Given the description of an element on the screen output the (x, y) to click on. 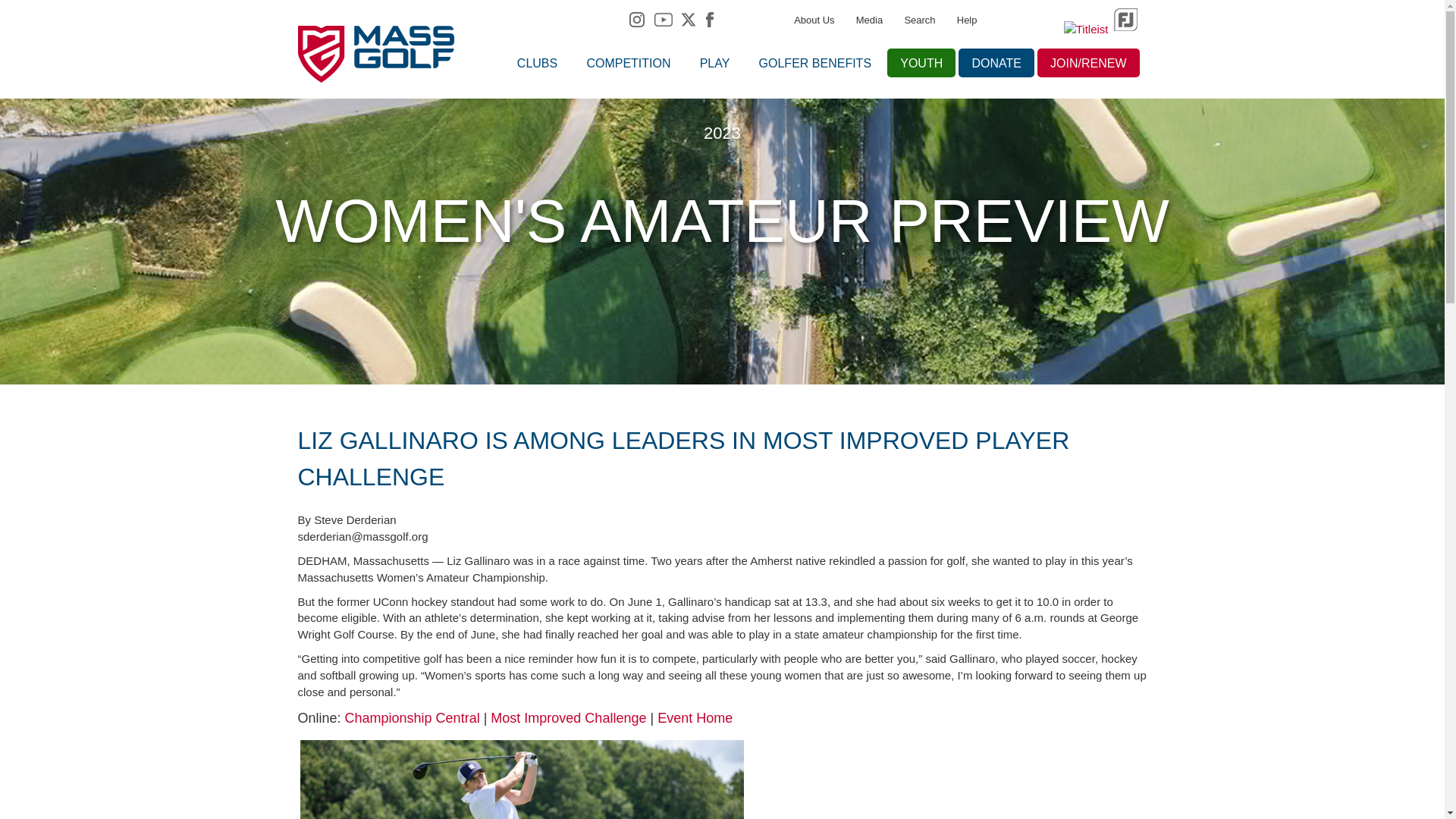
Search (919, 17)
About Us (813, 17)
Help (966, 17)
Media (869, 17)
CLUBS (536, 62)
